Given the description of an element on the screen output the (x, y) to click on. 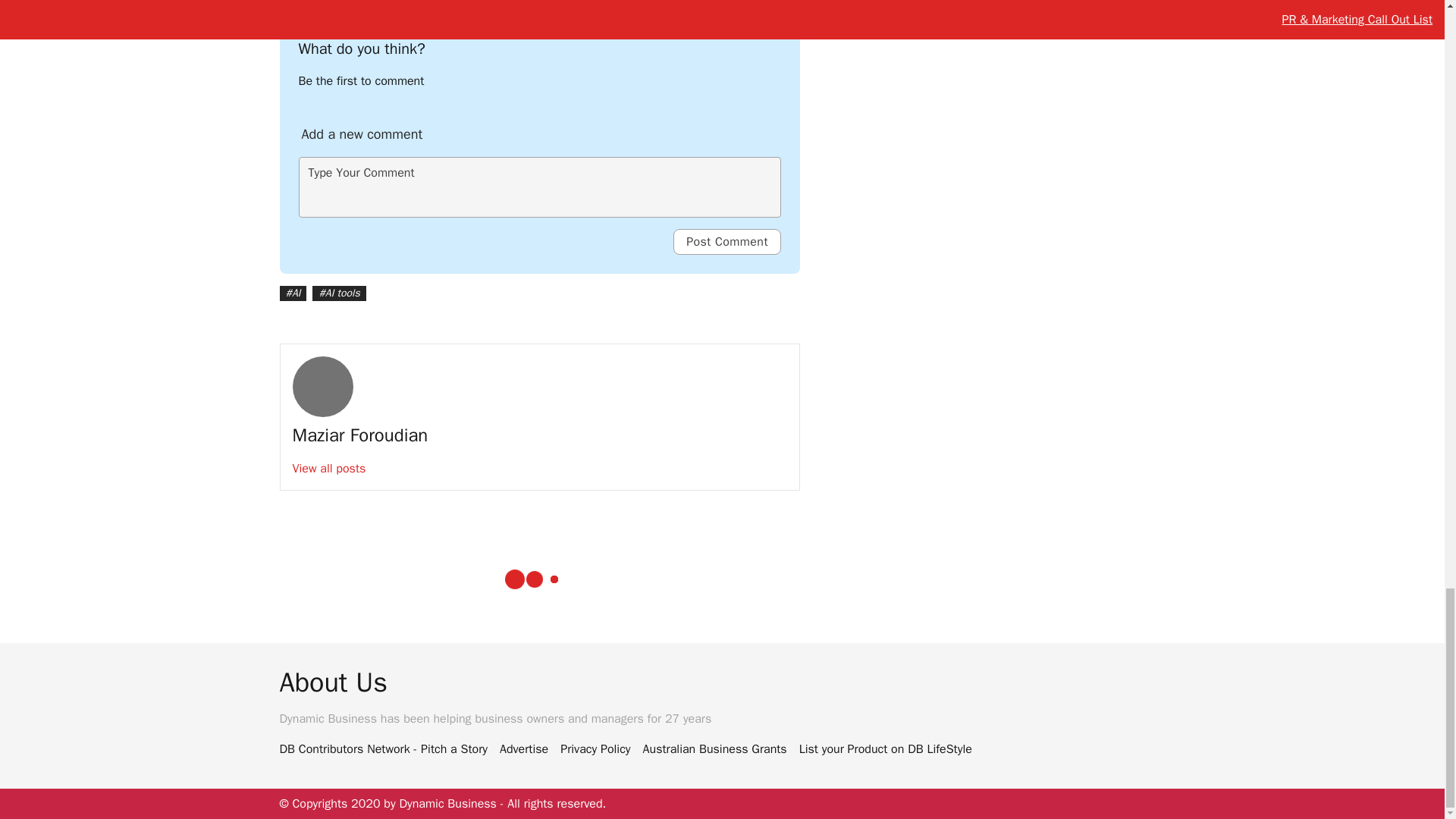
Post Comment (726, 241)
View all posts (329, 468)
